Given the description of an element on the screen output the (x, y) to click on. 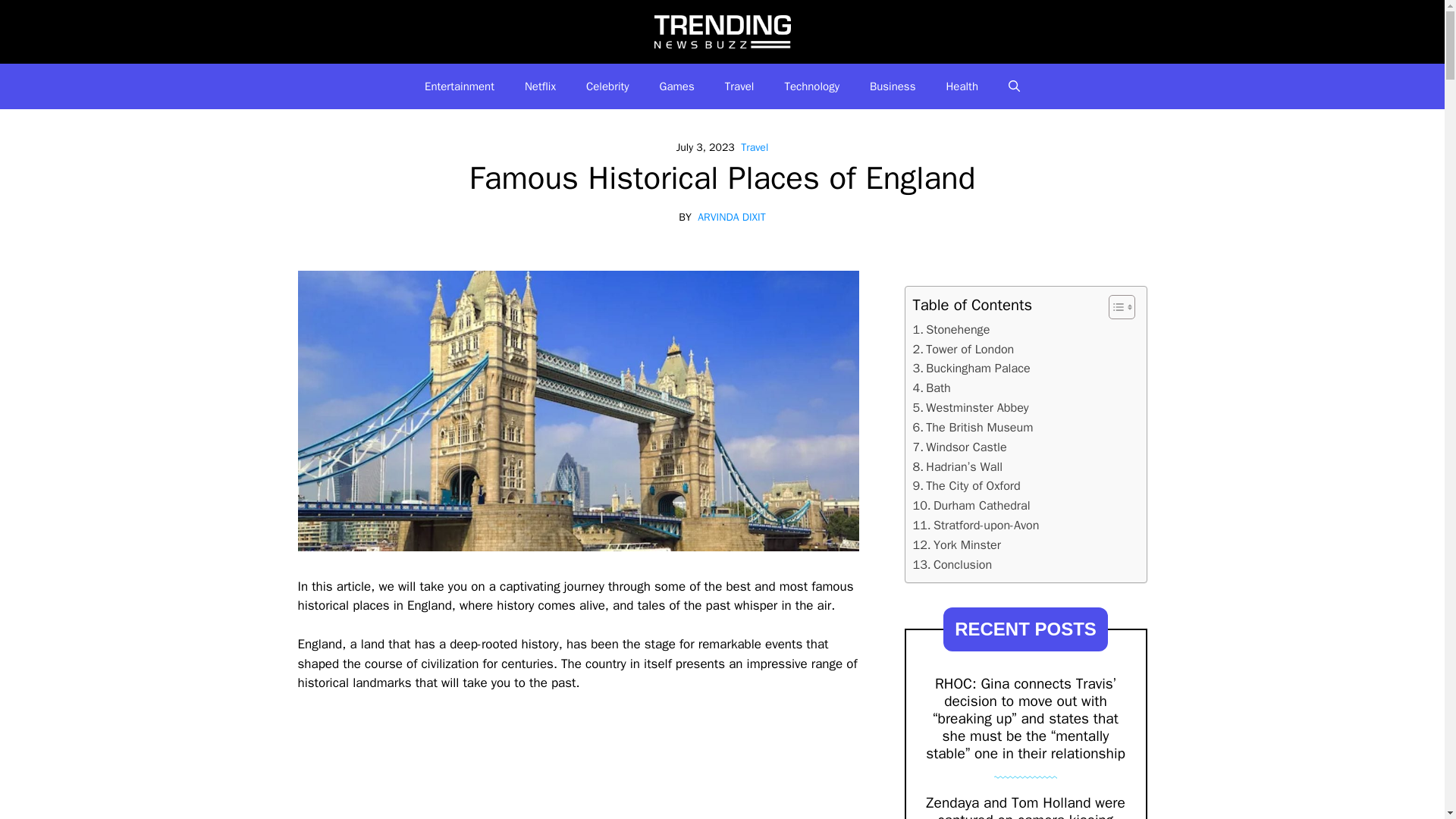
Health (961, 85)
Tower of London (963, 349)
Bath (931, 388)
Durham Cathedral (971, 505)
Conclusion (952, 564)
Advertisement (578, 765)
The British Museum (972, 427)
Travel (754, 146)
Travel (740, 85)
Stratford-upon-Avon (975, 525)
